Given the description of an element on the screen output the (x, y) to click on. 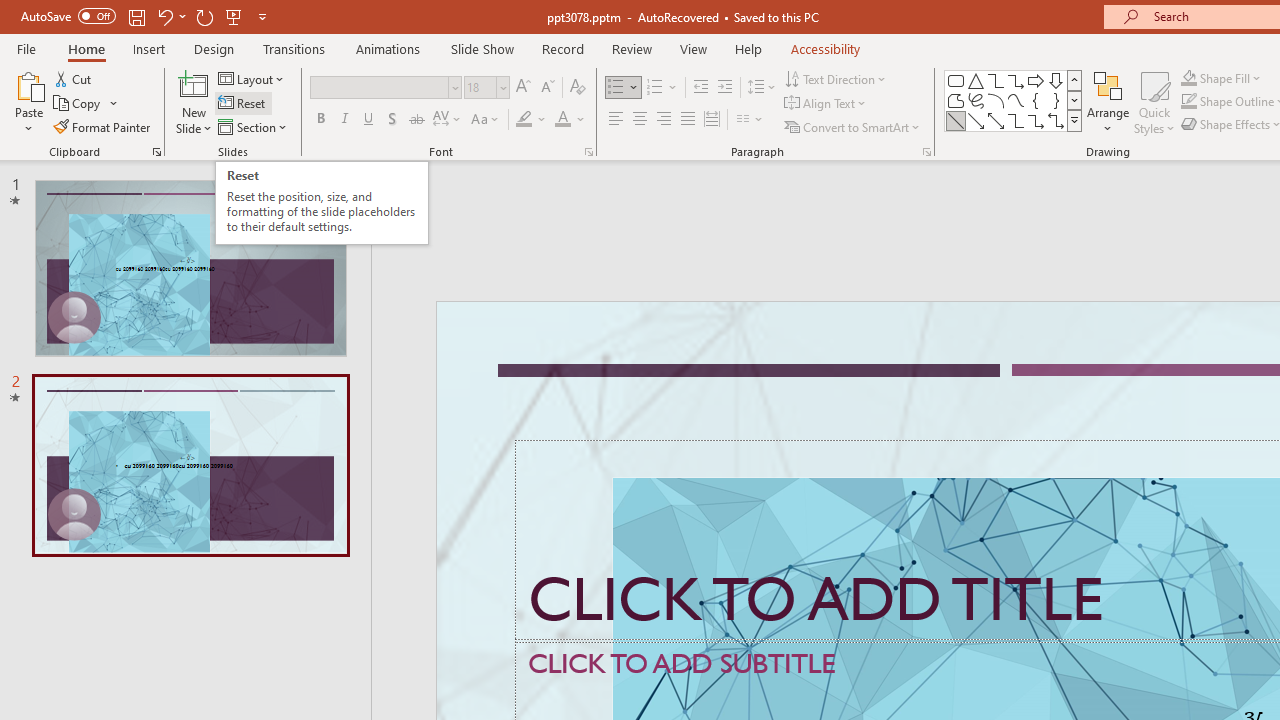
Numbering (661, 87)
Connector: Elbow Double-Arrow (1055, 120)
Line Spacing (762, 87)
Character Spacing (447, 119)
Italic (344, 119)
Shape Fill Dark Green, Accent 2 (1188, 78)
Font Color Red (562, 119)
Center (639, 119)
Paste (28, 102)
Columns (750, 119)
Numbering (654, 87)
